Given the description of an element on the screen output the (x, y) to click on. 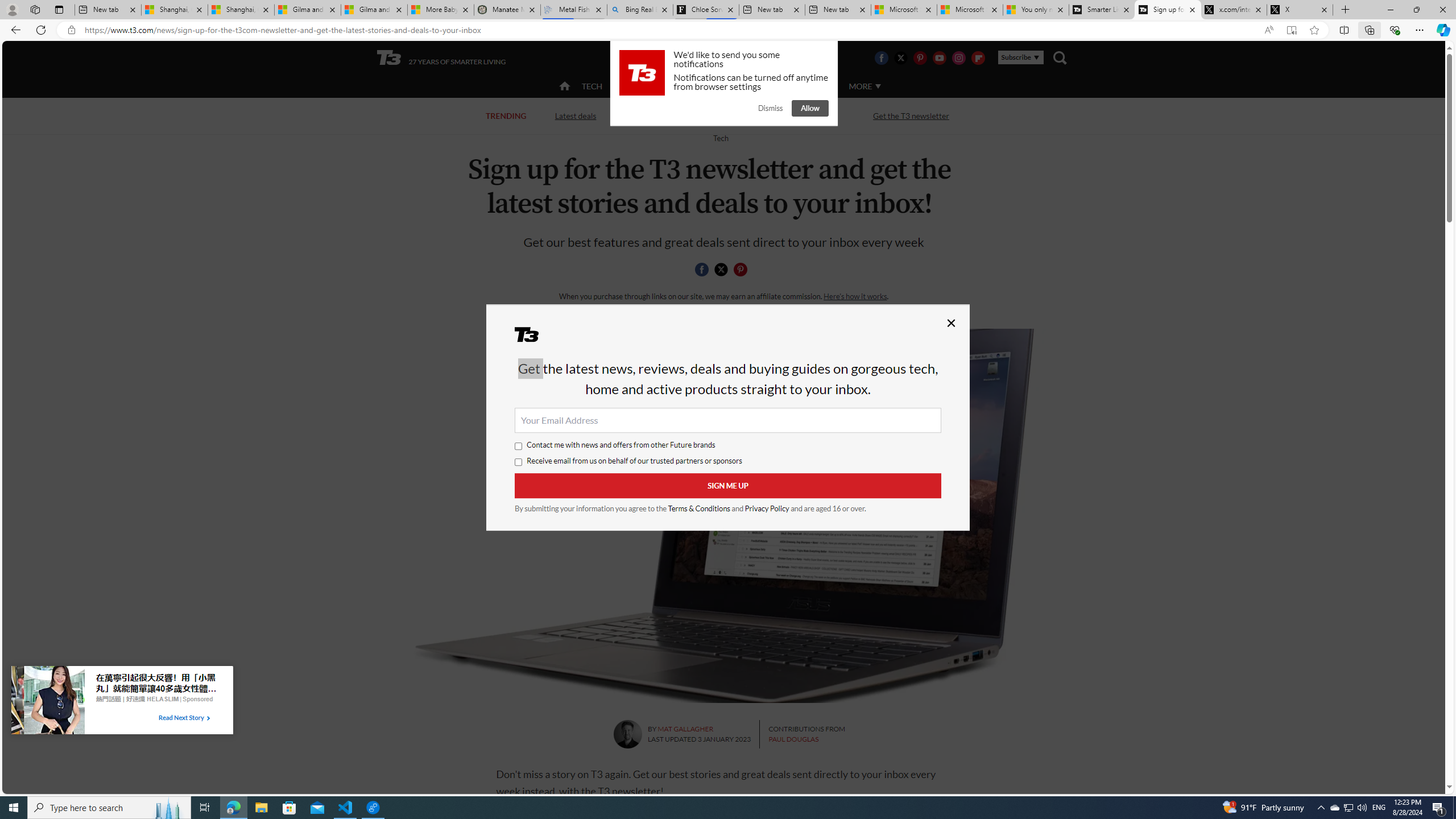
Share this page on Twitter (720, 269)
MAT GALLAGHER (685, 728)
Branding in Taboola advertising section (137, 698)
Back to Class 2024 (670, 115)
MORE  (863, 86)
flag of UK (752, 57)
Visit us on Twitter (900, 57)
home (564, 86)
T3 (534, 338)
Latest deals (575, 115)
Image for Taboola Advertising Unit (47, 702)
